Given the description of an element on the screen output the (x, y) to click on. 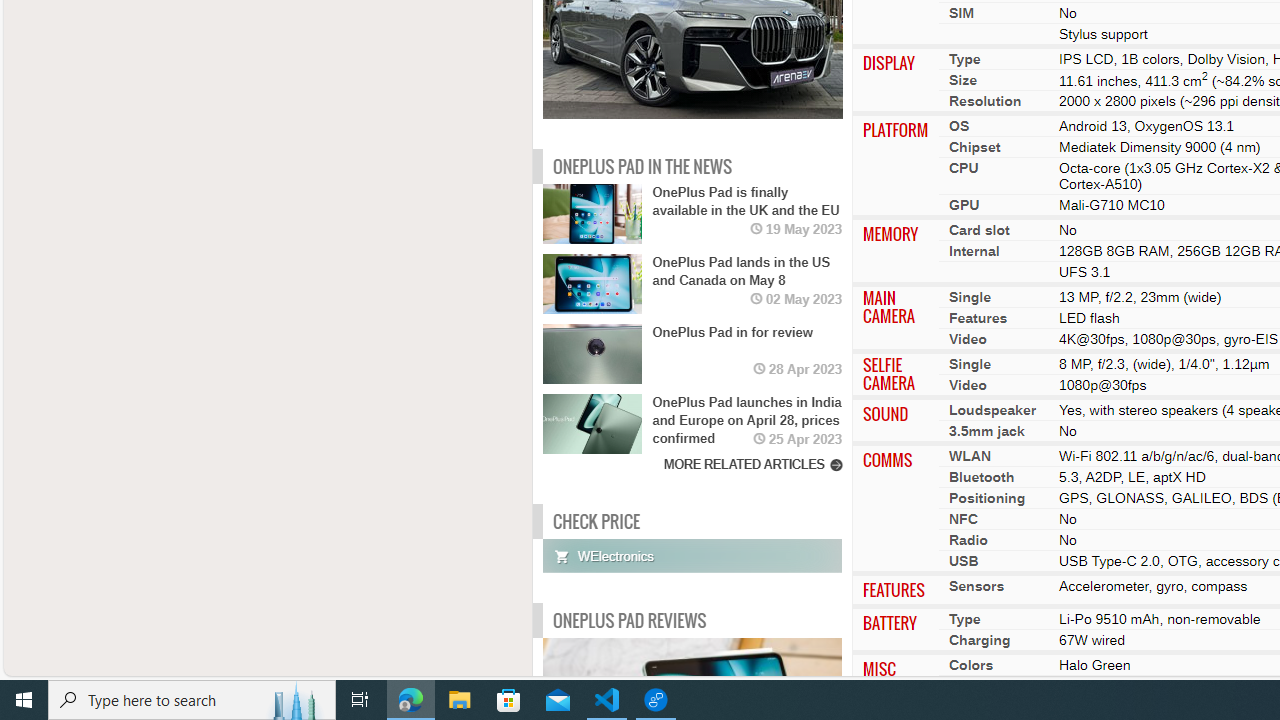
ONEPLUS PAD IN THE NEWS (642, 166)
Colors (971, 664)
Positioning (987, 498)
Video (967, 385)
Size (962, 79)
GPU (964, 205)
Radio (968, 540)
Type (964, 619)
Chipset (974, 147)
Resolution (984, 101)
Sensors (976, 586)
WLAN (969, 456)
